Given the description of an element on the screen output the (x, y) to click on. 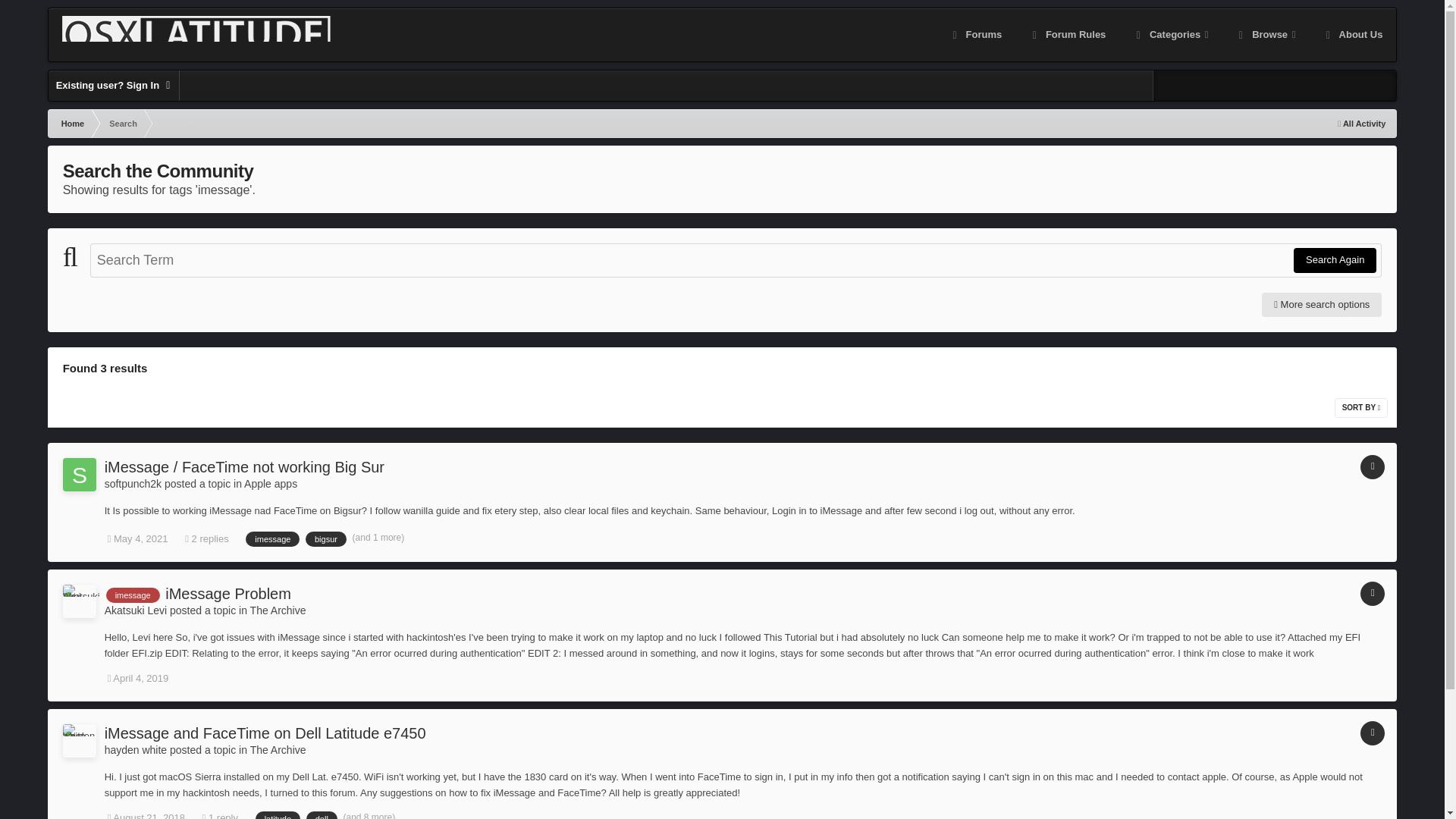
Categories (1170, 34)
Forum Rules (1066, 34)
Find other content tagged with 'bigsur' (325, 539)
Find other content tagged with 'imessage' (272, 539)
Go to softpunch2k's profile (132, 483)
Browse (1265, 34)
Home (72, 123)
About Us (1352, 34)
Go to Akatsuki Levi's profile (79, 601)
Topic (1371, 593)
Topic (1371, 467)
Forums (975, 34)
Go to softpunch2k's profile (79, 474)
Go to Akatsuki Levi's profile (135, 610)
Find other content tagged with 'imessage' (133, 595)
